Given the description of an element on the screen output the (x, y) to click on. 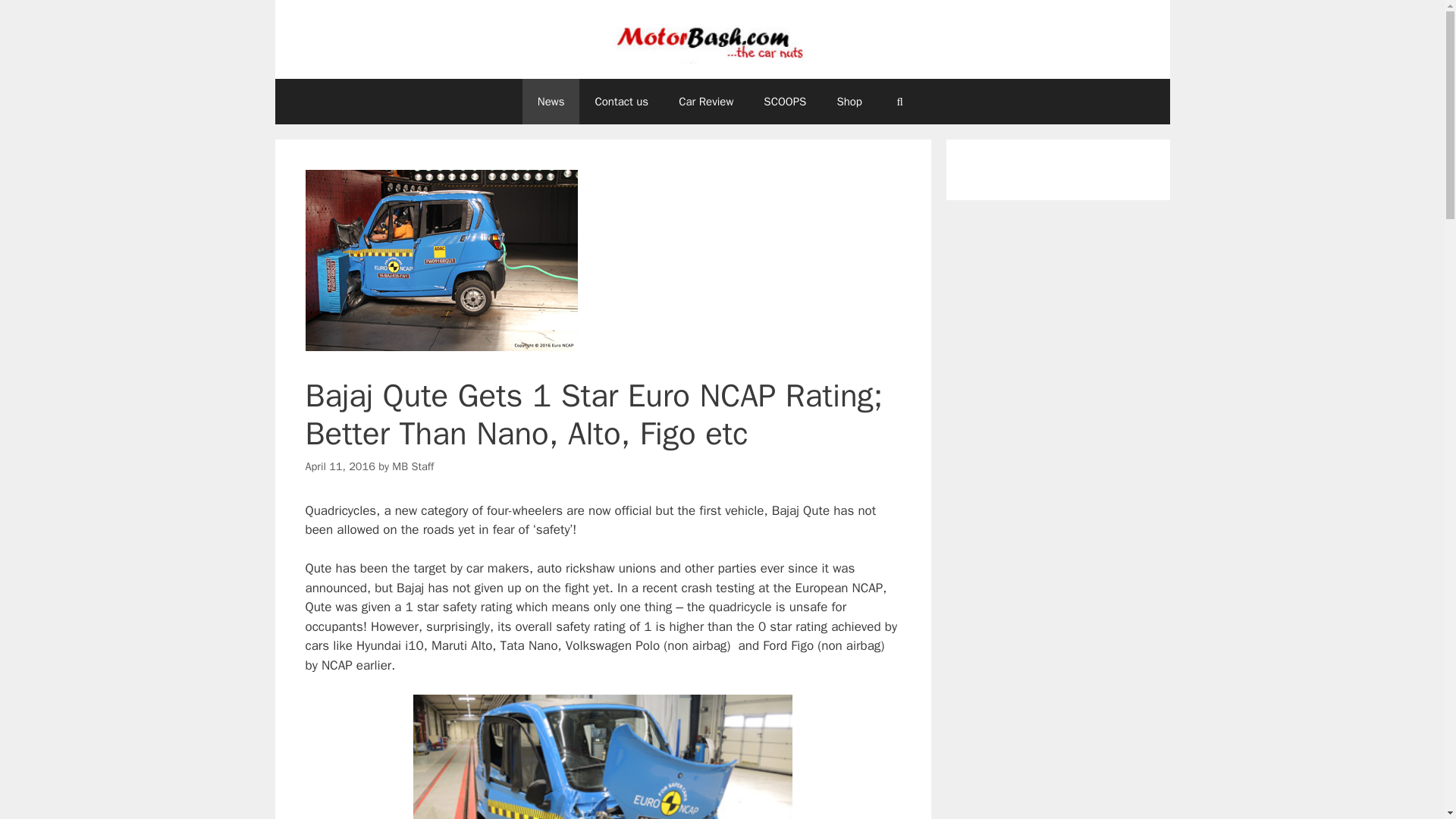
News (550, 101)
Shop (849, 101)
MB Staff (412, 466)
Car Review (705, 101)
View all posts by MB Staff (412, 466)
Contact us (621, 101)
SCOOPS (784, 101)
